Given the description of an element on the screen output the (x, y) to click on. 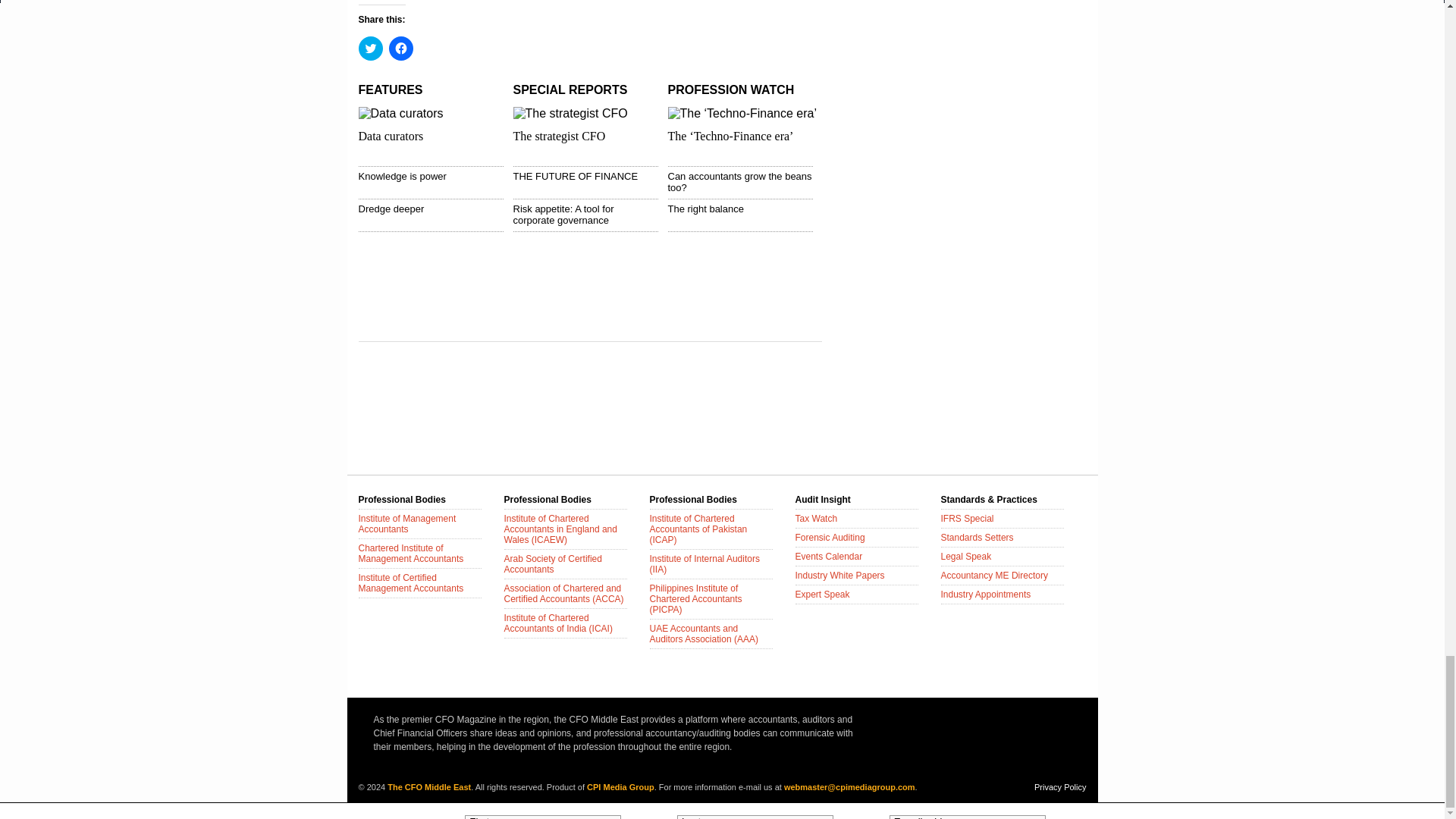
Can accountants grow the beans too? (738, 181)
The right balance (704, 208)
Click to share on Twitter (369, 48)
Risk appetite: A tool for corporate governance (562, 214)
Data curators (390, 135)
THE FUTURE OF FINANCE (574, 175)
FEATURES (390, 89)
SPECIAL REPORTS (569, 89)
The strategist CFO (558, 135)
PROFESSION WATCH (729, 89)
Knowledge is power (401, 175)
Click to share on Facebook (400, 48)
Dredge deeper (390, 208)
